Given the description of an element on the screen output the (x, y) to click on. 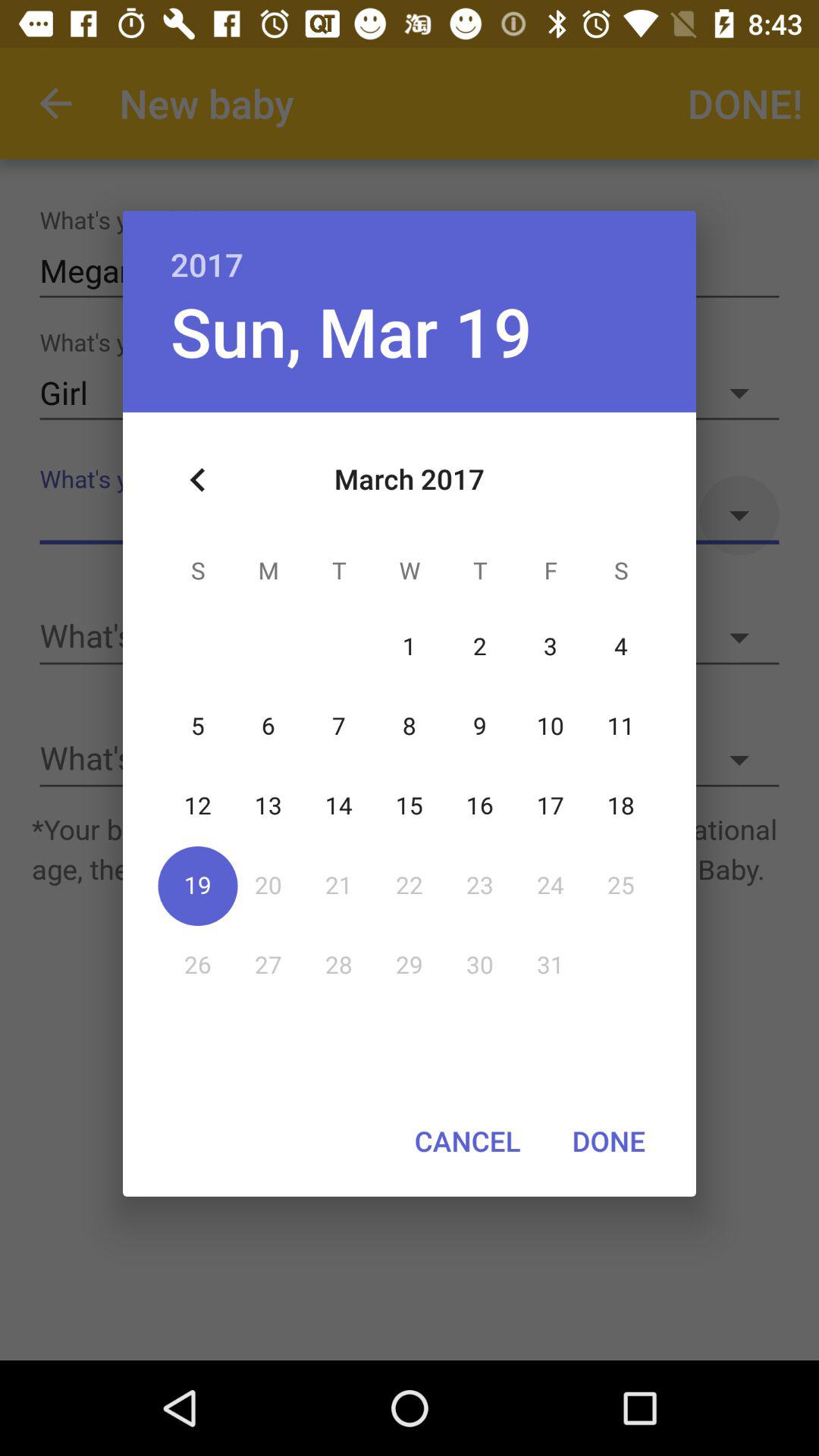
click the item next to the done (467, 1140)
